Given the description of an element on the screen output the (x, y) to click on. 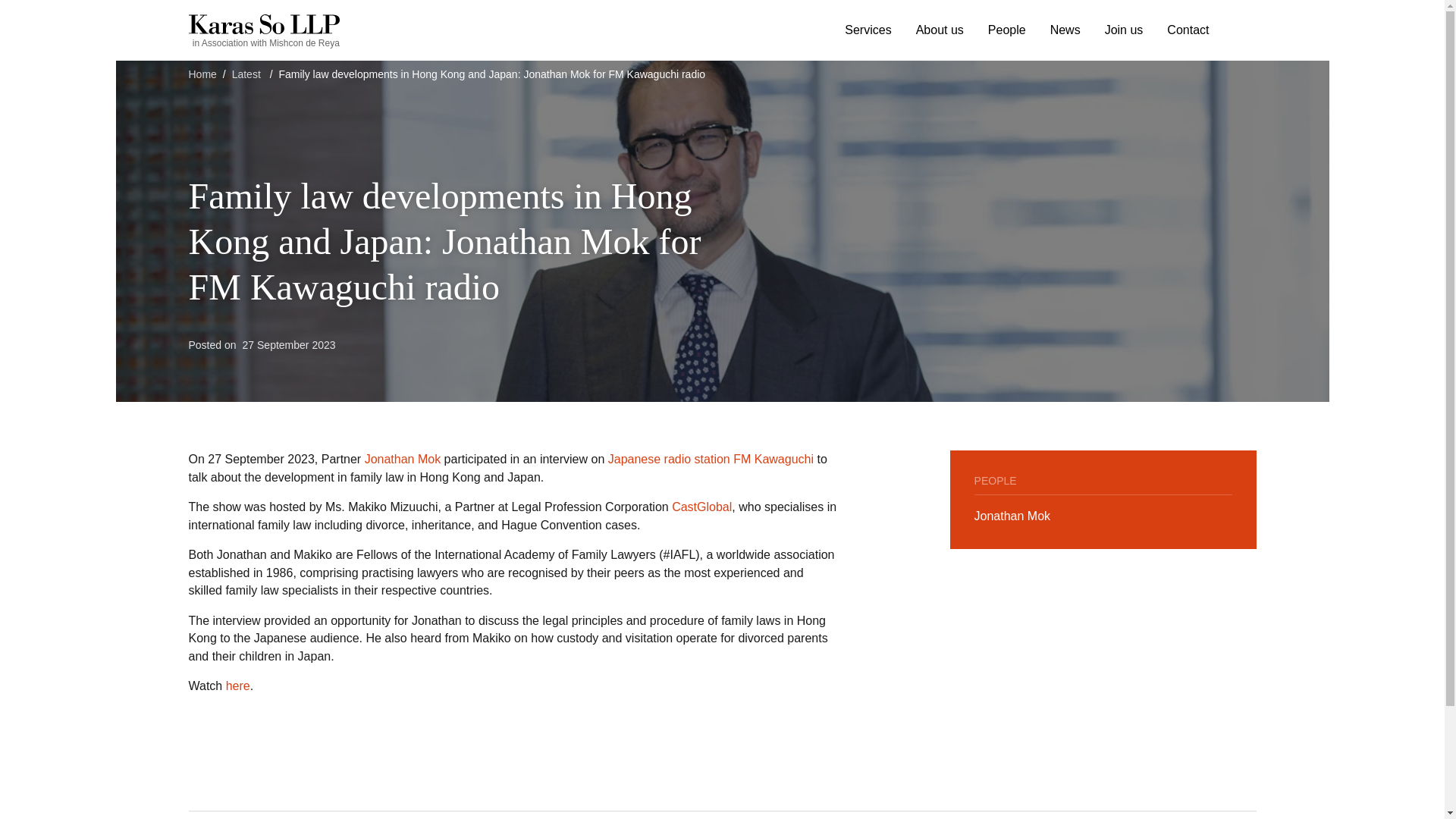
Jonathan Mok (403, 459)
People (1007, 30)
Contact (1187, 30)
About us (939, 30)
Services (867, 30)
Latest (245, 73)
News (1064, 30)
Jonathan Mok (1012, 515)
Home (201, 73)
here (237, 685)
CastGlobal (701, 506)
Join us (1123, 30)
Japanese radio station FM Kawaguchi (710, 459)
in Association with Mishcon de Reya (263, 29)
